Given the description of an element on the screen output the (x, y) to click on. 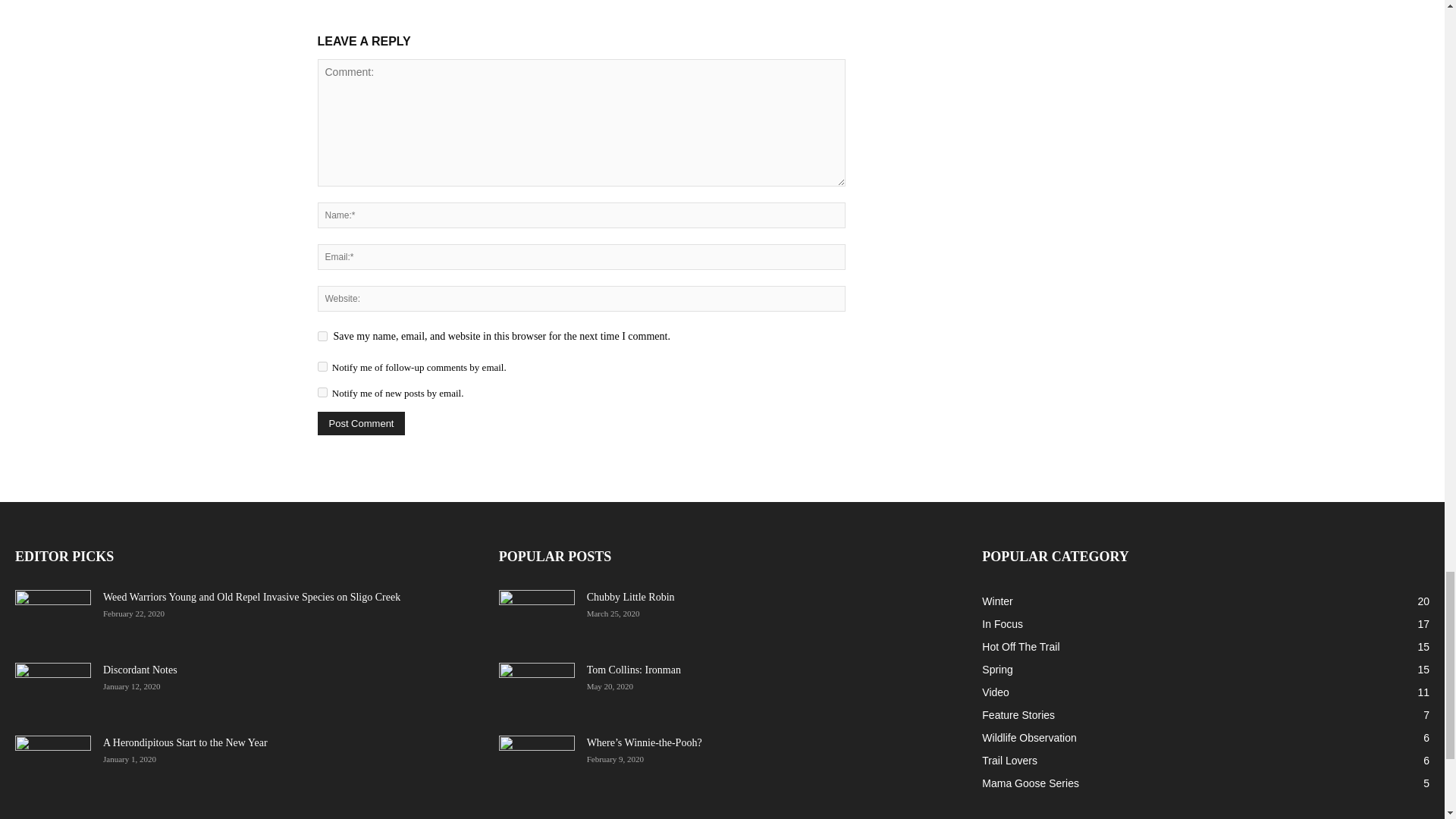
subscribe (321, 366)
subscribe (321, 392)
yes (321, 336)
Post Comment (360, 422)
